Given the description of an element on the screen output the (x, y) to click on. 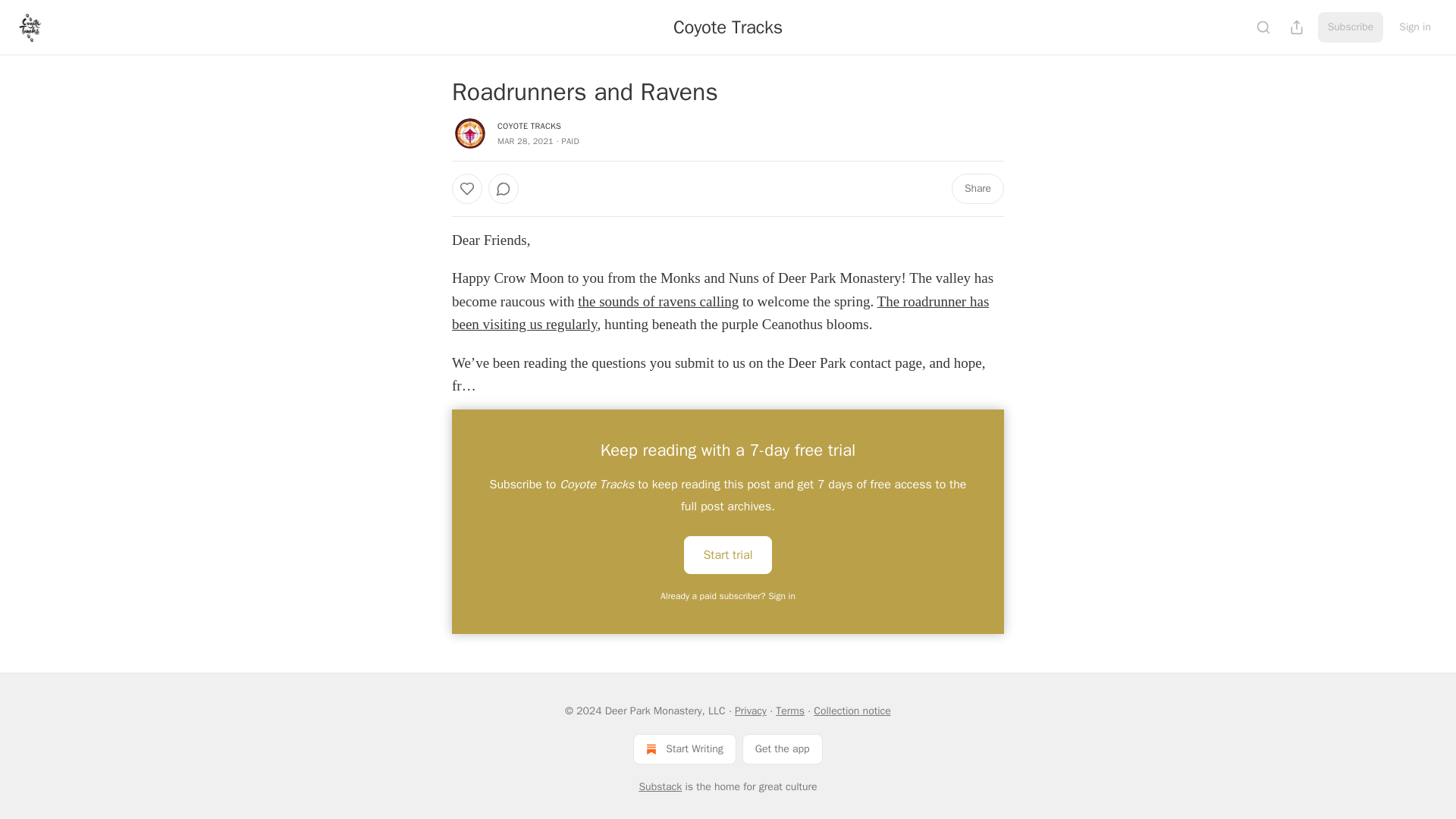
Get the app (782, 748)
Privacy (751, 710)
Terms (790, 710)
Start Writing (684, 748)
Start trial (727, 555)
Collection notice (851, 710)
the sounds of ravens calling (658, 301)
Start trial (727, 554)
Share (978, 188)
Substack (660, 786)
